Given the description of an element on the screen output the (x, y) to click on. 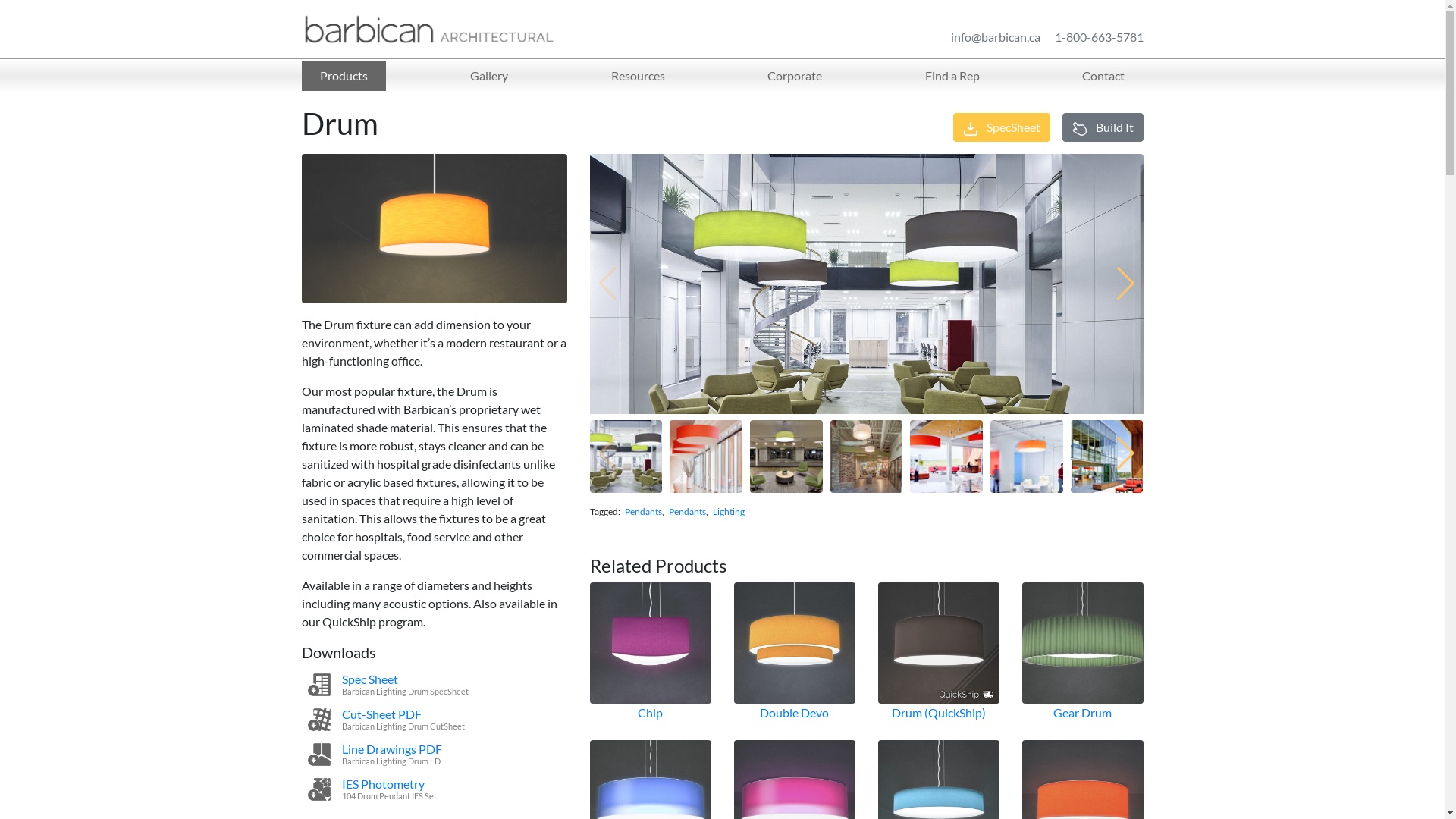
Cut-Sheet PDF
Barbican Lighting Drum CutSheet Element type: text (434, 719)
Line Drawings PDF
Barbican Lighting Drum LD Element type: text (434, 754)
1-800-663-5781 Element type: text (1098, 36)
Gear Drum Element type: text (1082, 712)
Gallery Element type: text (488, 75)
Lighting Element type: text (728, 511)
Double Devo Element type: text (793, 712)
Pendants Element type: text (643, 511)
SpecSheet Element type: text (1000, 126)
Corporate Element type: text (794, 75)
Contact Element type: text (1102, 75)
Products Element type: text (343, 75)
Build It Element type: text (1101, 126)
IES Photometry
104 Drum Pendant IES Set Element type: text (434, 788)
Find a Rep Element type: text (951, 75)
Chip Element type: text (649, 712)
info@barbican.ca Element type: text (995, 36)
Drum (QuickShip) Element type: text (938, 712)
Resources Element type: text (638, 75)
Spec Sheet
Barbican Lighting Drum SpecSheet Element type: text (434, 684)
Pendants Element type: text (687, 511)
